Given the description of an element on the screen output the (x, y) to click on. 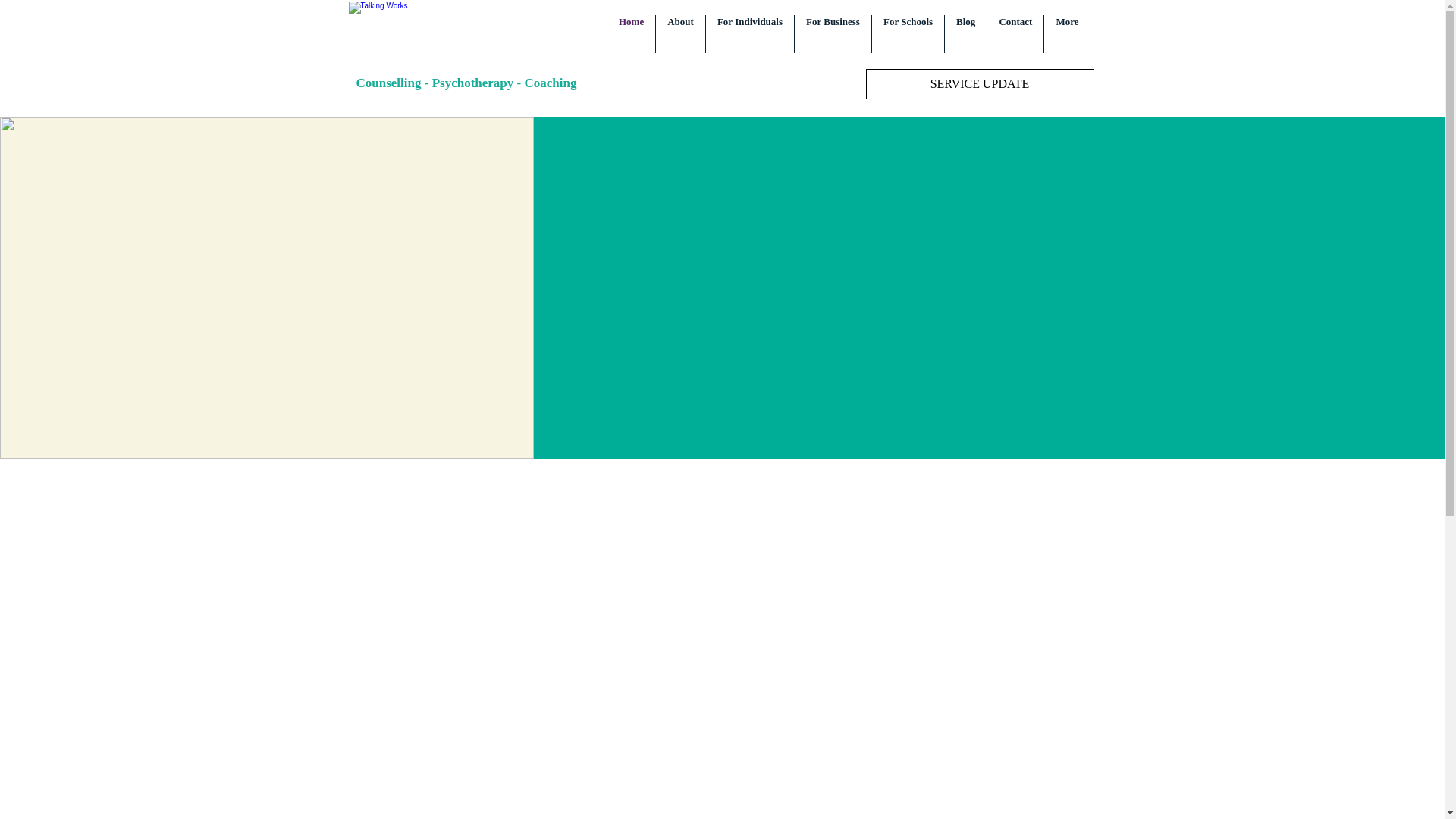
For Schools (907, 34)
Contact (1015, 34)
Home (631, 34)
For Business (832, 34)
For Individuals (749, 34)
About (680, 34)
SERVICE UPDATE (980, 83)
Blog (965, 34)
